Given the description of an element on the screen output the (x, y) to click on. 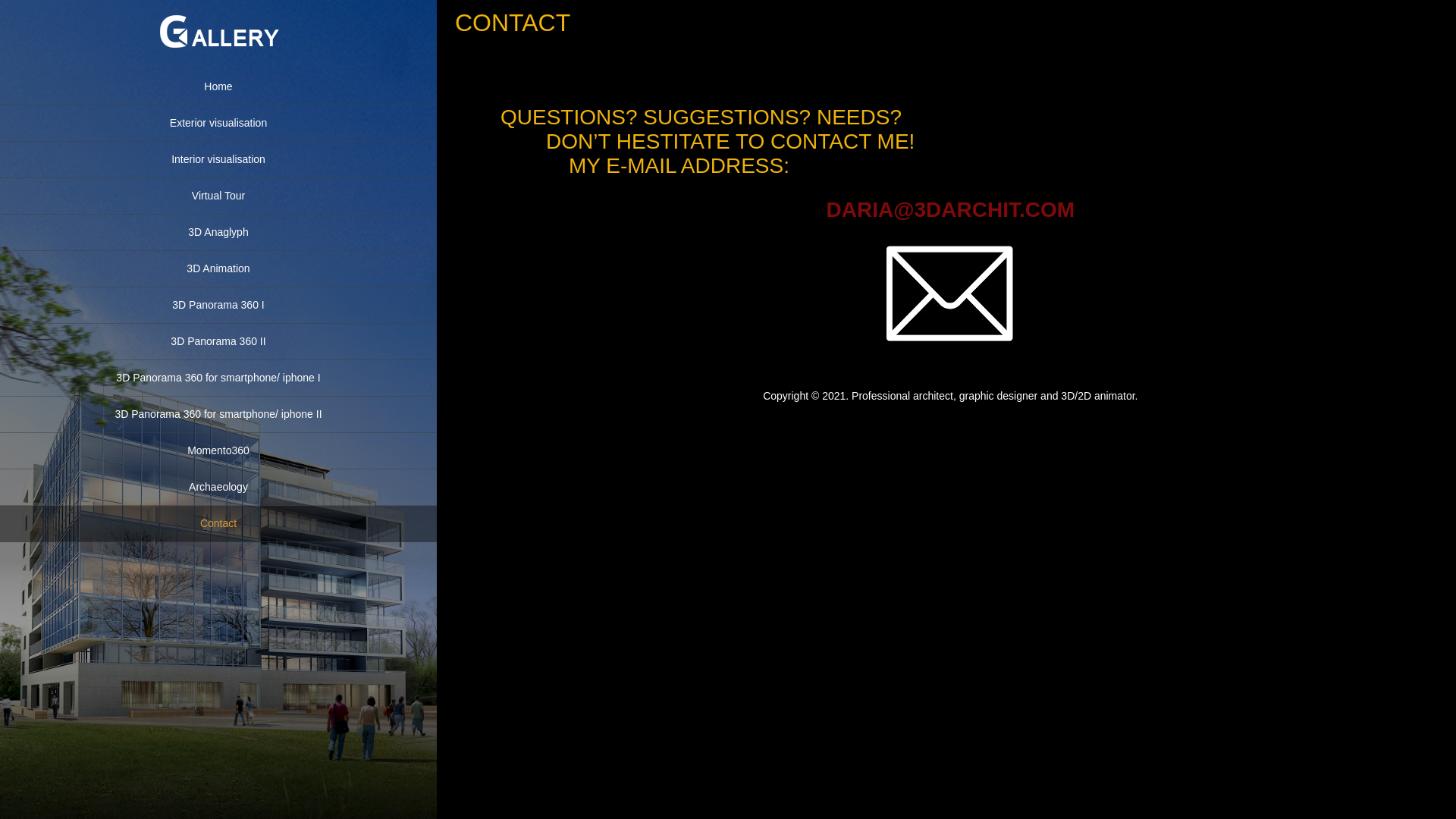
3D Panorama 360 for smartphone/ iphone II Element type: text (218, 414)
Interior visualisation Element type: text (218, 159)
3D Panorama 360 II Element type: text (218, 341)
Momento360 Element type: text (218, 451)
Home Element type: text (218, 87)
Freelance Architect Element type: hover (217, 59)
3D Panorama 360 for smartphone/ iphone I Element type: text (218, 378)
DARIA@3DARCHIT.COM Element type: text (950, 209)
3D Animation Element type: text (218, 269)
3D Panorama 360 I Element type: text (218, 305)
Exterior visualisation Element type: text (218, 123)
Archaeology Element type: text (218, 487)
Virtual Tour Element type: text (218, 196)
Contact Element type: text (218, 523)
3D Anaglyph Element type: text (218, 232)
